Given the description of an element on the screen output the (x, y) to click on. 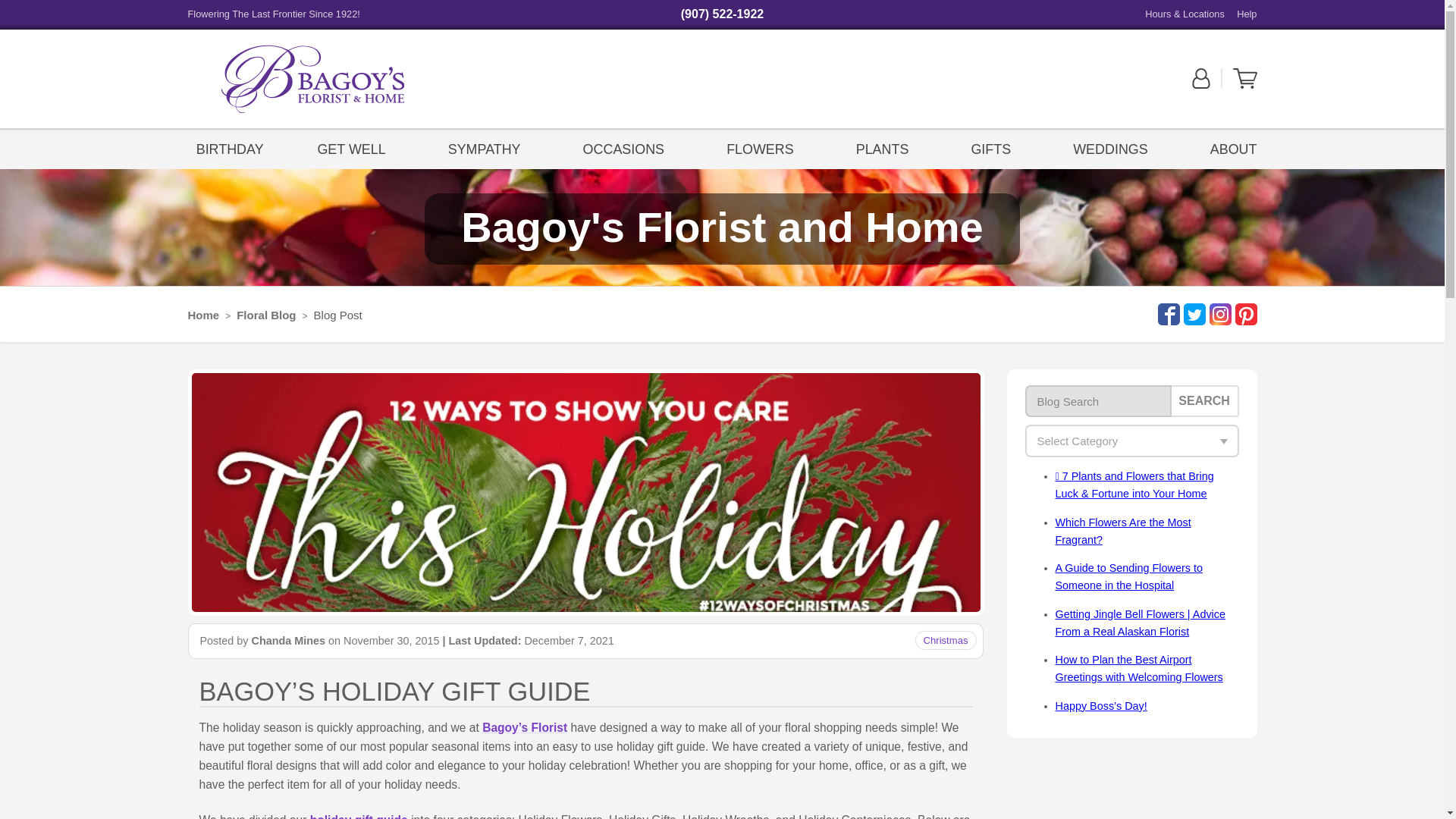
FLOWERS (759, 147)
GET WELL (355, 147)
SEARCH (1204, 400)
PLANTS (882, 147)
holiday gift guide (358, 816)
WEDDINGS (1110, 147)
Floral Blog (265, 314)
Twitter (1192, 314)
BIRTHDAY (229, 147)
Home (203, 314)
Pinterest (1244, 314)
Facebook (1166, 314)
Help (1246, 13)
Instagram (1218, 314)
SYMPATHY (484, 147)
